Given the description of an element on the screen output the (x, y) to click on. 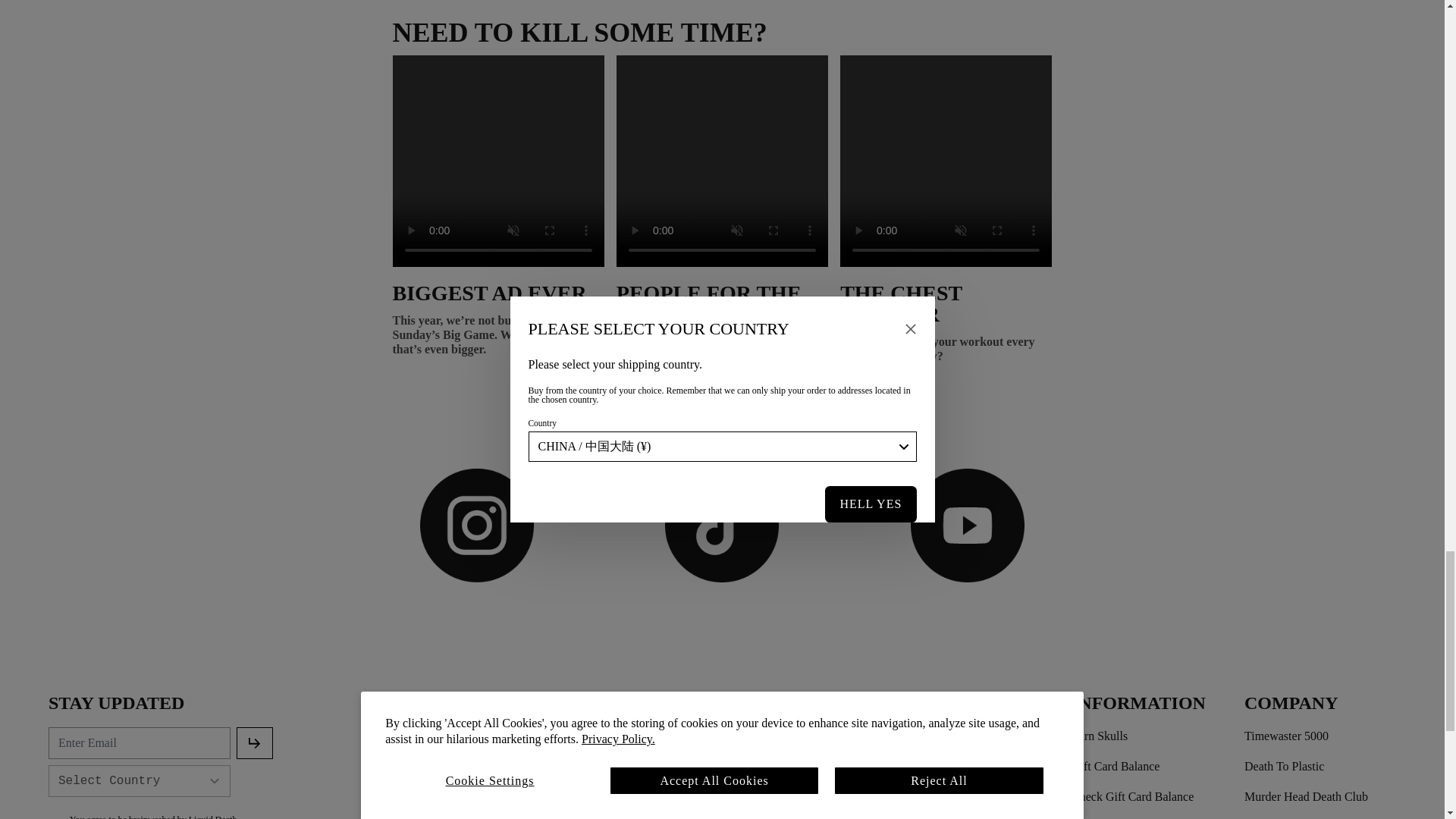
Country Selector (139, 780)
Submit (254, 743)
